Given the description of an element on the screen output the (x, y) to click on. 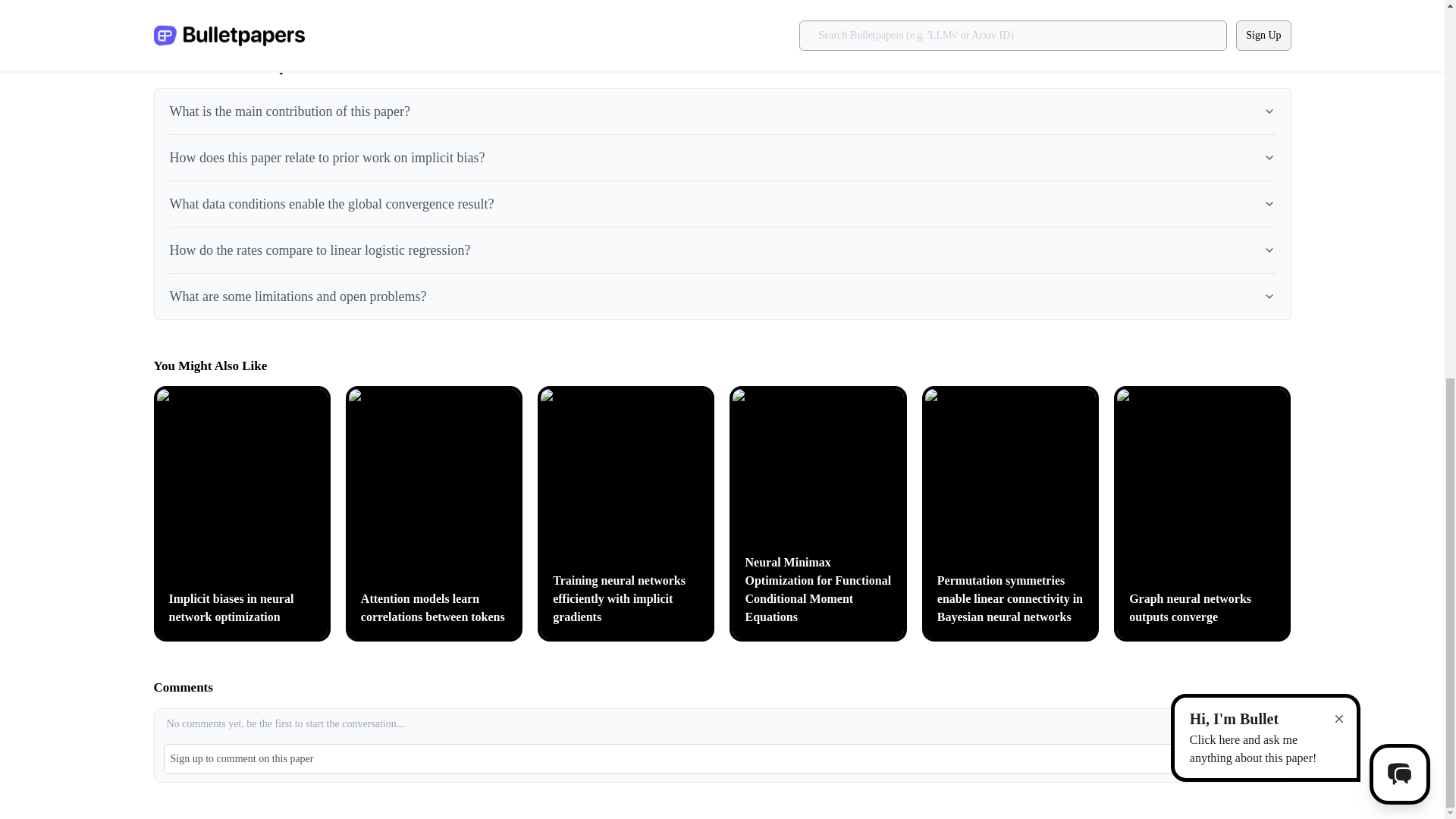
How does this paper relate to prior work on implicit bias? (722, 153)
What data conditions enable the global convergence result? (722, 200)
Sign Up (1248, 758)
What is the main contribution of this paper? (722, 107)
What are some limitations and open problems? (722, 292)
How do the rates compare to linear logistic regression? (722, 246)
No comments yet, be the first to start the conversation... (722, 725)
